Given the description of an element on the screen output the (x, y) to click on. 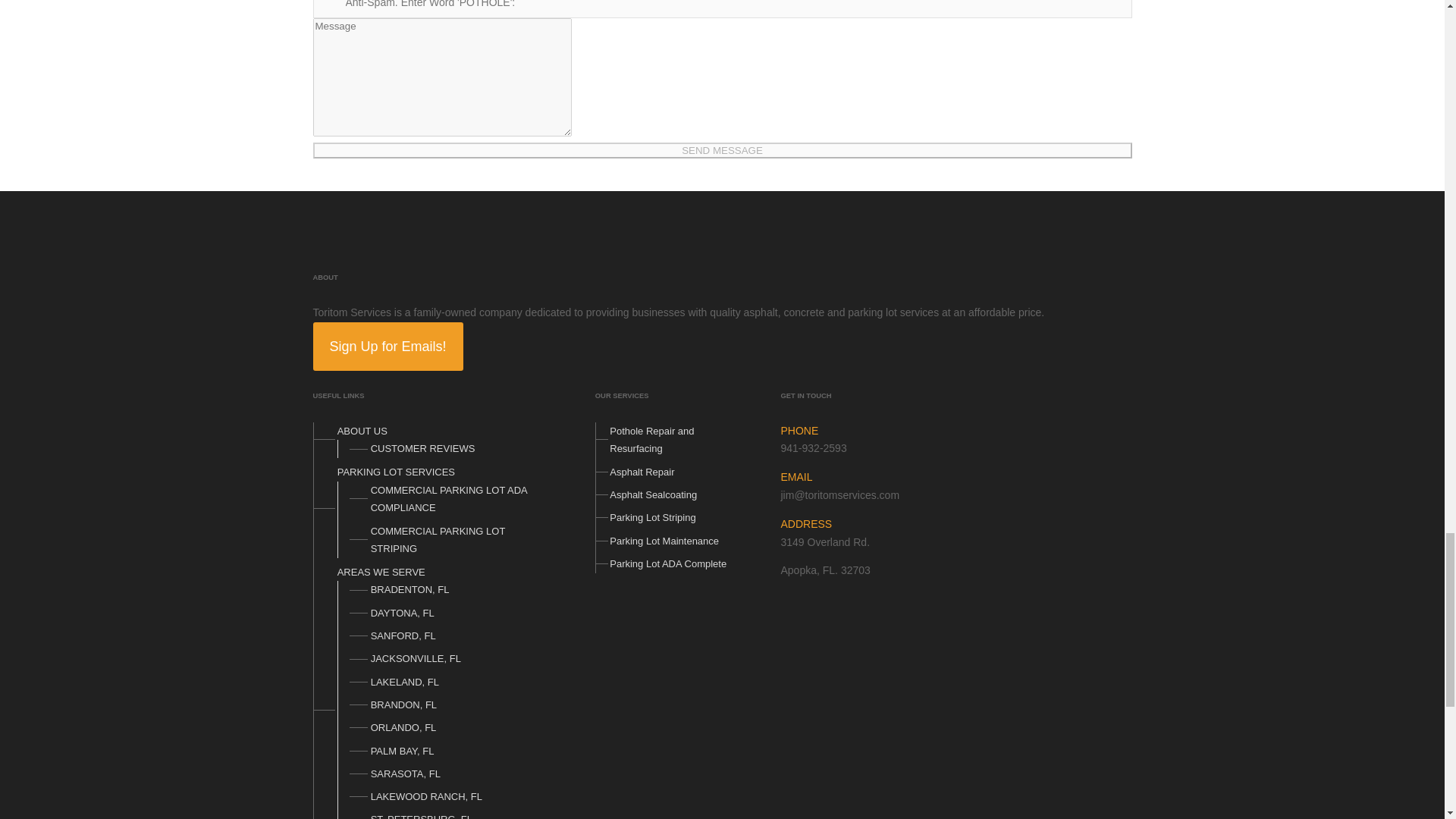
SEND MESSAGE (722, 150)
